Given the description of an element on the screen output the (x, y) to click on. 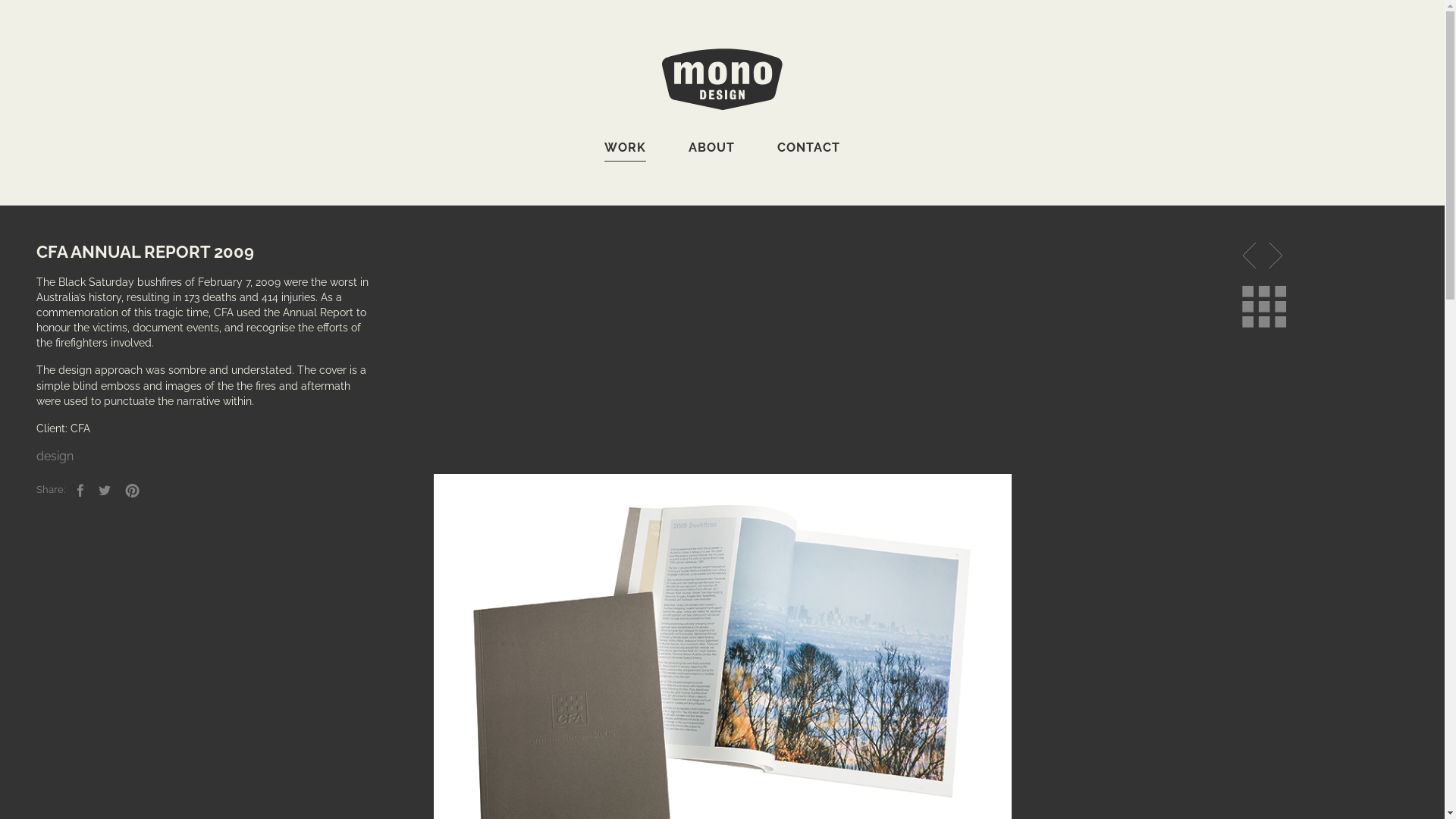
CONTACT Element type: text (808, 147)
ABOUT Element type: text (711, 147)
WORK Element type: text (625, 150)
